Given the description of an element on the screen output the (x, y) to click on. 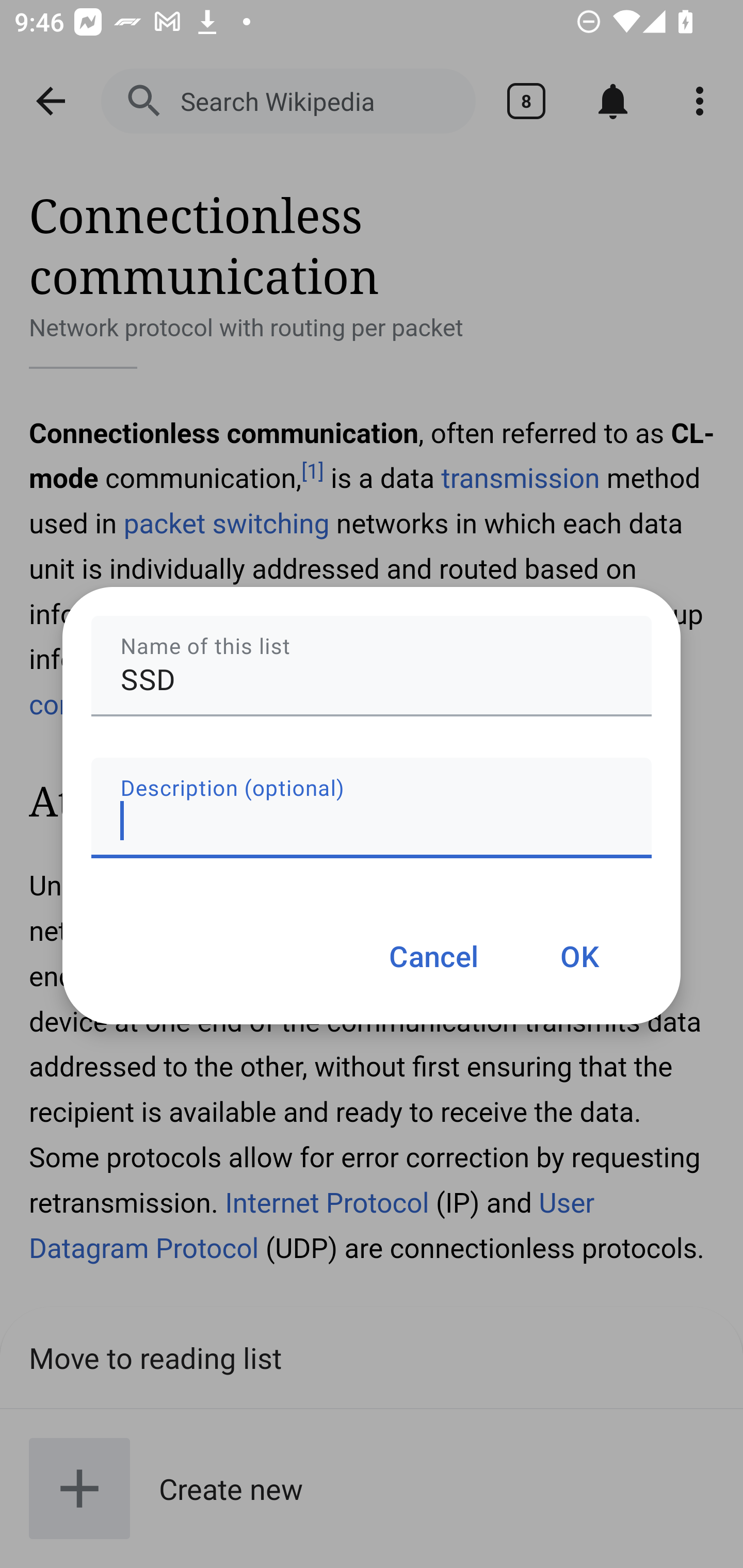
SSD (371, 666)
Description (optional) (371, 807)
Cancel (433, 955)
OK (579, 955)
